Given the description of an element on the screen output the (x, y) to click on. 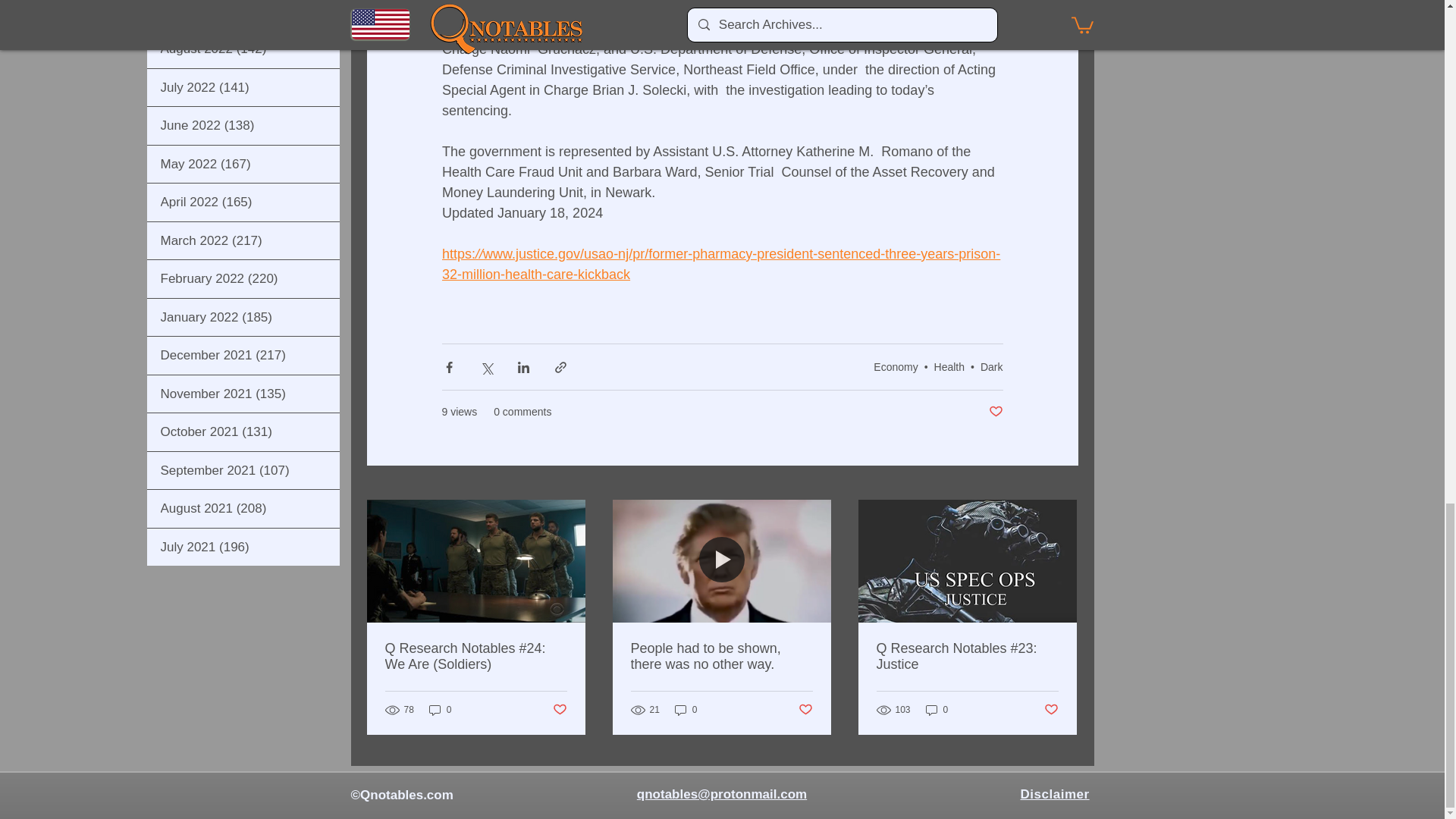
People had to be shown, there was no other way. (721, 656)
Post not marked as liked (558, 709)
Economy (895, 367)
0 (937, 709)
Health (948, 367)
0 (685, 709)
https: (457, 253)
Post not marked as liked (804, 709)
Dark (991, 367)
Post not marked as liked (995, 412)
